Given the description of an element on the screen output the (x, y) to click on. 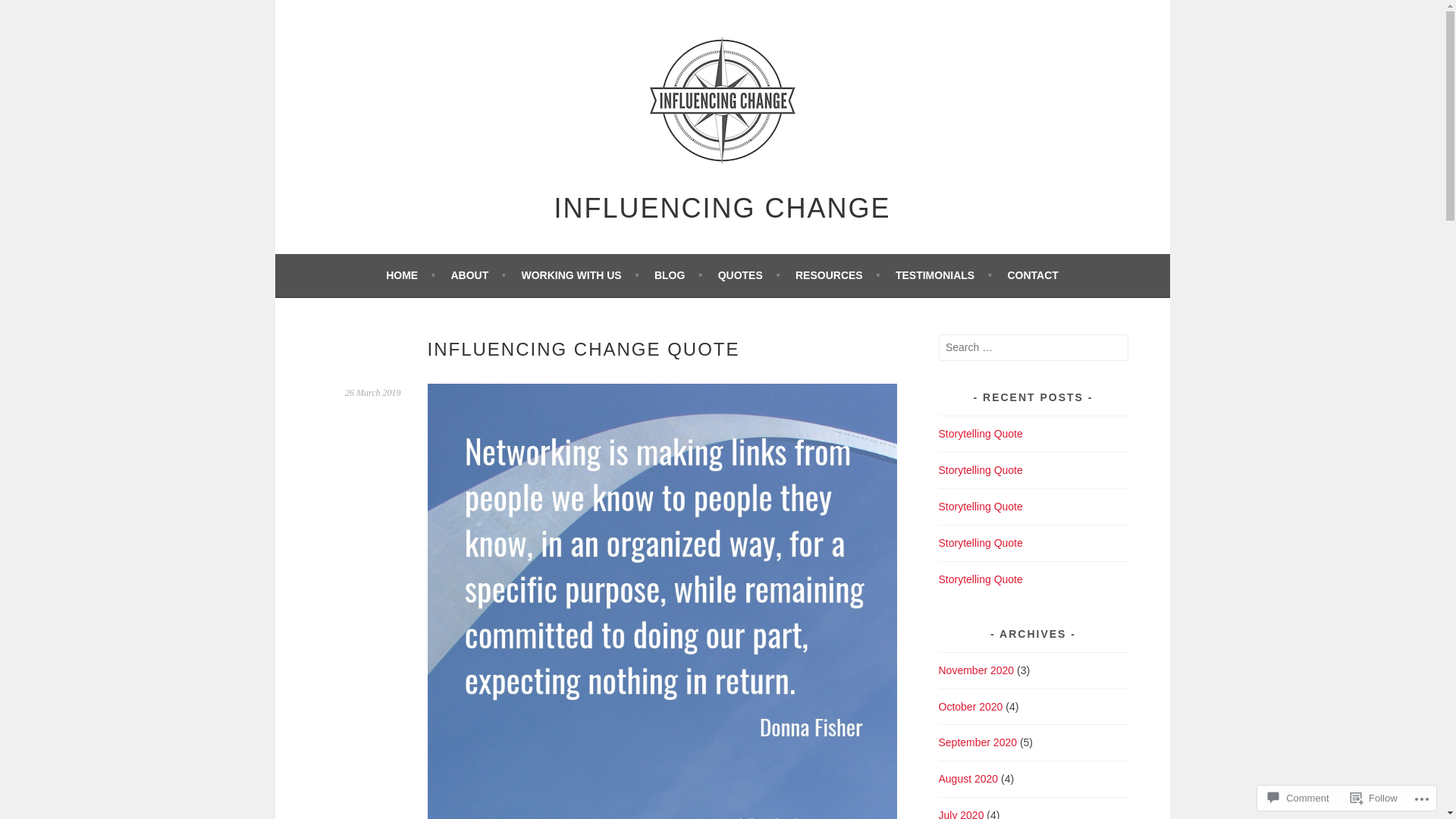
ABOUT Element type: text (477, 275)
Search Element type: text (30, 13)
November 2020 Element type: text (976, 670)
HOME Element type: text (410, 275)
QUOTES Element type: text (749, 275)
Follow Element type: text (1373, 797)
Storytelling Quote Element type: text (980, 579)
August 2020 Element type: text (968, 778)
26 March 2019 Element type: text (373, 392)
Storytelling Quote Element type: text (980, 470)
CONTACT Element type: text (1032, 275)
WORKING WITH US Element type: text (579, 275)
BLOG Element type: text (678, 275)
September 2020 Element type: text (977, 742)
Storytelling Quote Element type: text (980, 433)
October 2020 Element type: text (970, 706)
INFLUENCING CHANGE Element type: text (721, 207)
TESTIMONIALS Element type: text (943, 275)
Storytelling Quote Element type: text (980, 506)
Comment Element type: text (1297, 797)
RESOURCES Element type: text (837, 275)
Storytelling Quote Element type: text (980, 542)
